Given the description of an element on the screen output the (x, y) to click on. 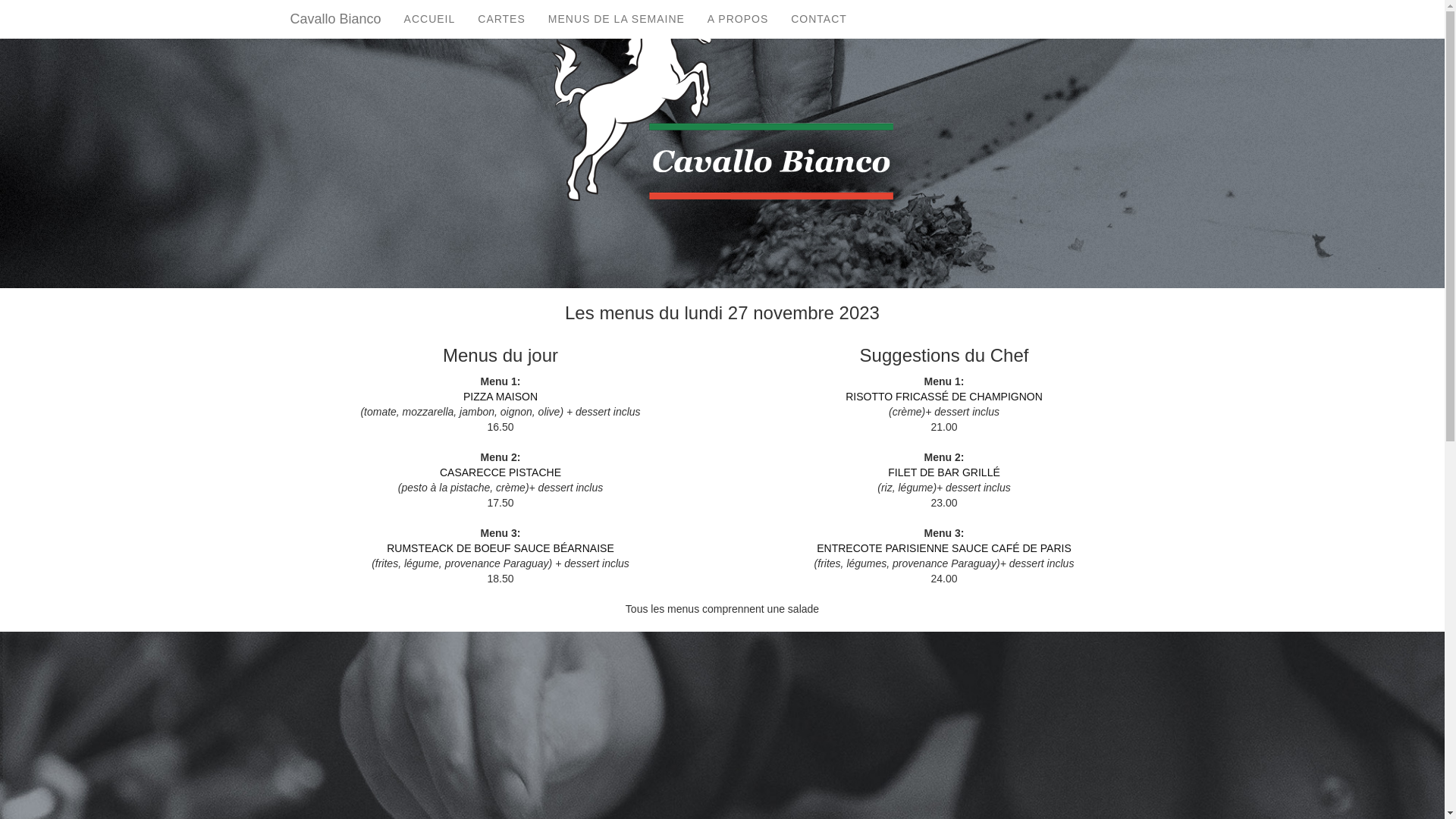
Cavallo Bianco Element type: text (335, 18)
MENUS DE LA SEMAINE Element type: text (616, 18)
CARTES Element type: text (501, 18)
ACCUEIL Element type: text (429, 18)
CONTACT Element type: text (818, 18)
A PROPOS Element type: text (737, 18)
